Given the description of an element on the screen output the (x, y) to click on. 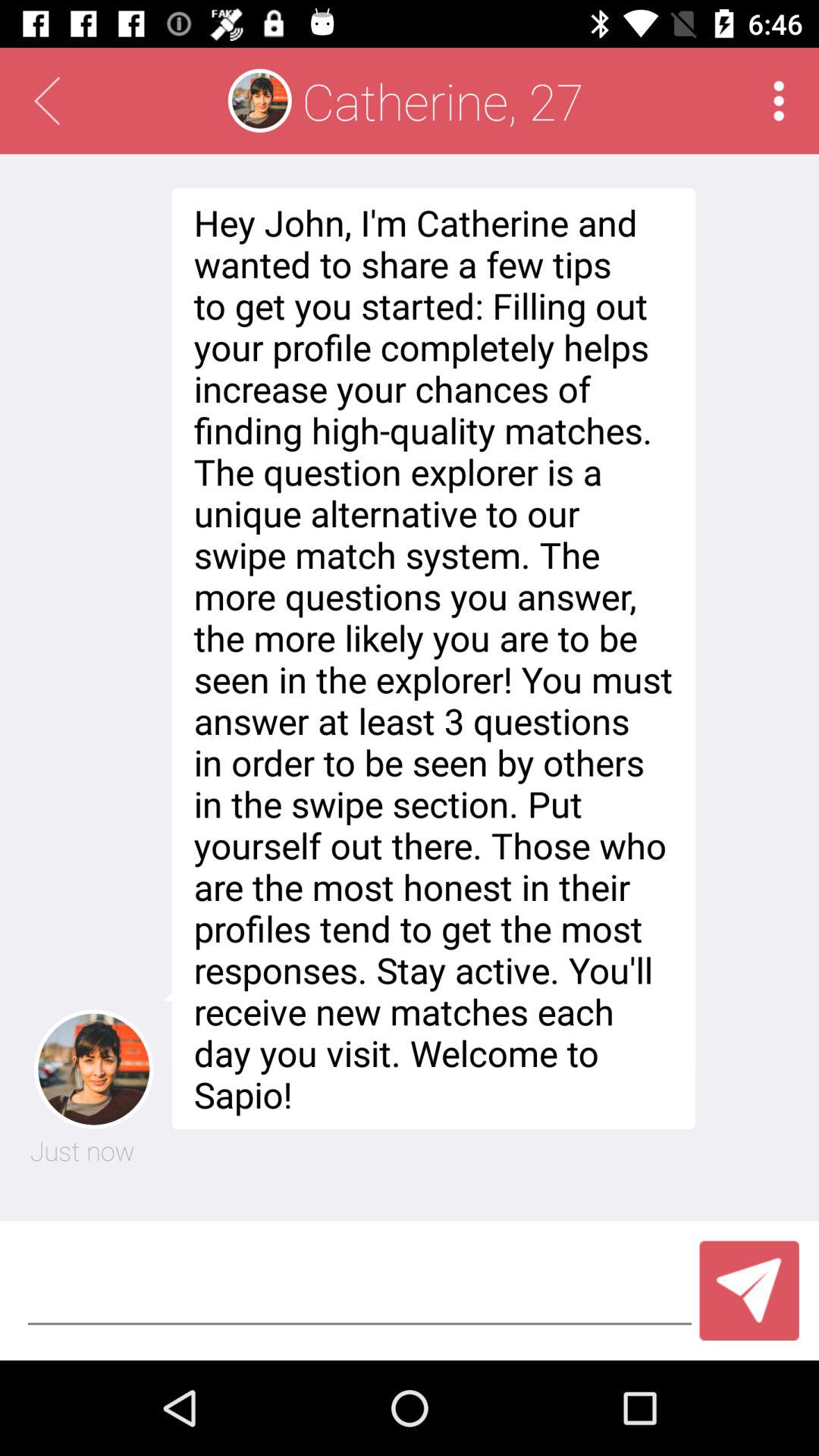
turn on app below hey john i icon (749, 1290)
